Given the description of an element on the screen output the (x, y) to click on. 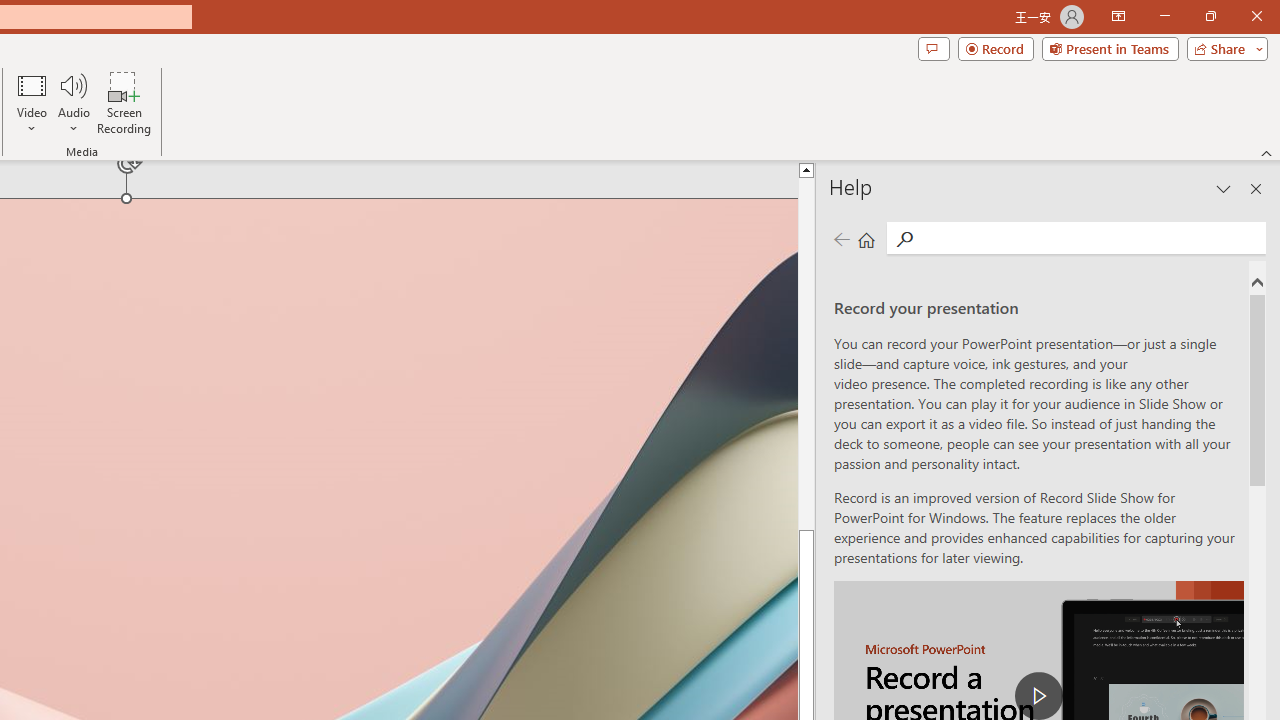
play Record a Presentation (1038, 695)
